Given the description of an element on the screen output the (x, y) to click on. 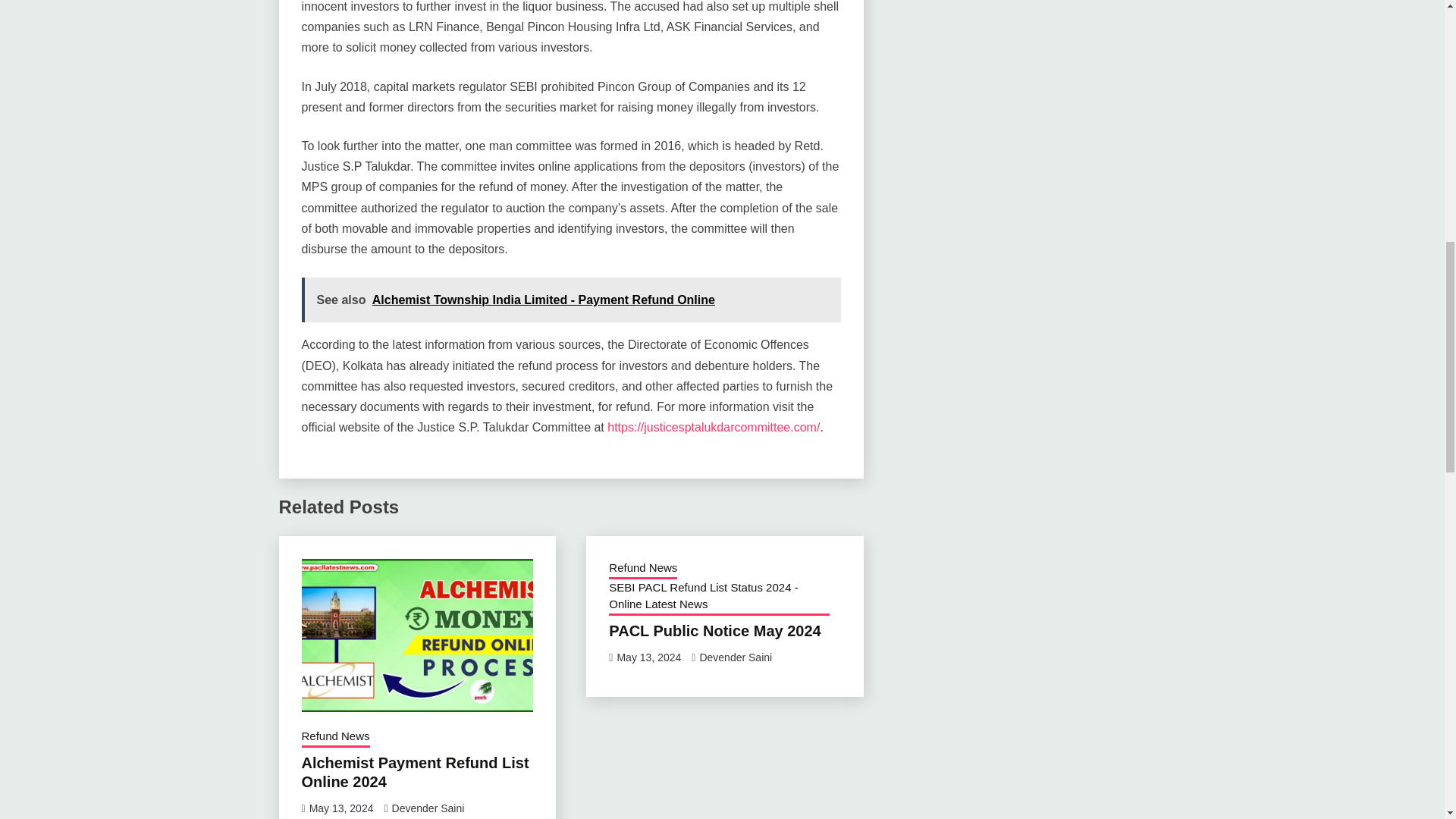
Devender Saini (427, 808)
PACL Public Notice May 2024 (714, 630)
May 13, 2024 (341, 808)
Refund News (335, 737)
May 13, 2024 (648, 657)
SEBI PACL Refund List Status 2024 - Online Latest News (718, 597)
Devender Saini (734, 657)
Alchemist Payment Refund List Online 2024 (415, 772)
Refund News (642, 569)
